Given the description of an element on the screen output the (x, y) to click on. 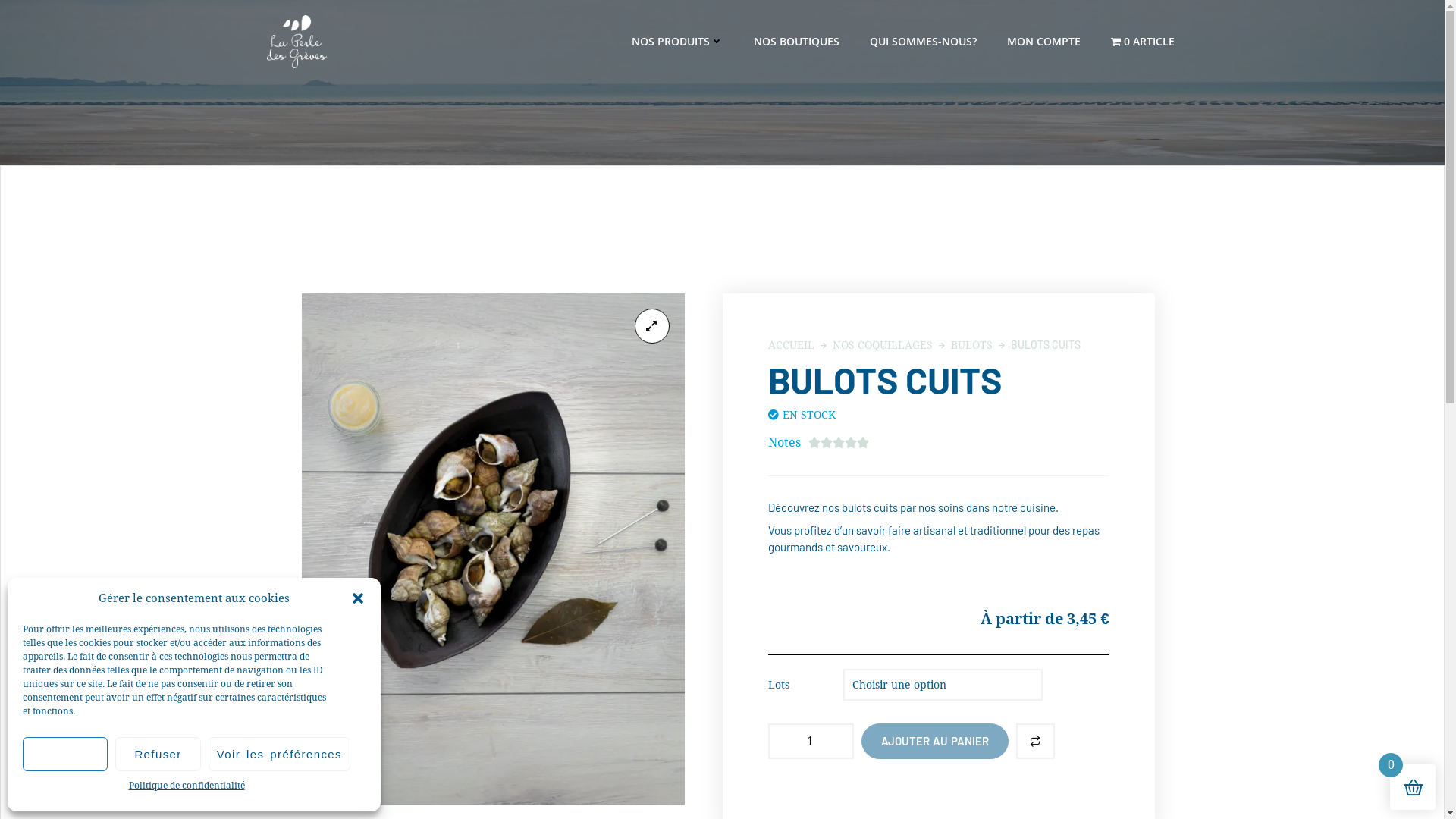
Refuser Element type: text (157, 754)
Miniature du produit Element type: hover (650, 325)
Accepter Element type: text (64, 754)
bulots_cuits_laperledesgreves Element type: hover (492, 549)
QUI SOMMES-NOUS? Element type: text (922, 41)
NOS BOUTIQUES Element type: text (796, 41)
0 ARTICLE Element type: text (1142, 41)
MON COMPTE Element type: text (1043, 41)
AJOUTER AU PANIER Element type: text (934, 741)
NOS PRODUITS Element type: text (677, 41)
BULOTS Element type: text (971, 344)
ACCUEIL Element type: text (790, 344)
NOS COQUILLAGES Element type: text (882, 344)
